Given the description of an element on the screen output the (x, y) to click on. 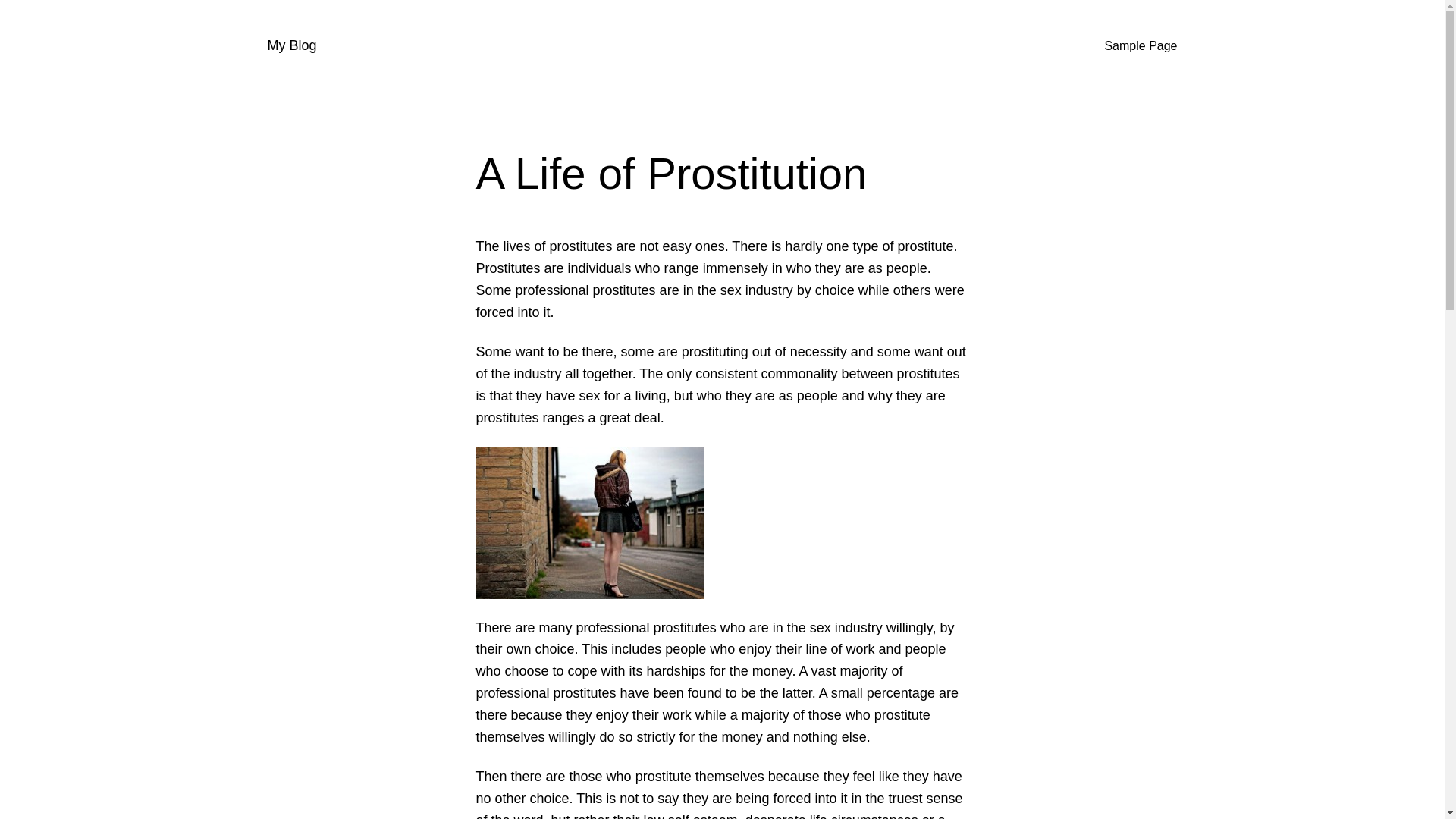
Sample Page (1139, 46)
My Blog (290, 45)
